Given the description of an element on the screen output the (x, y) to click on. 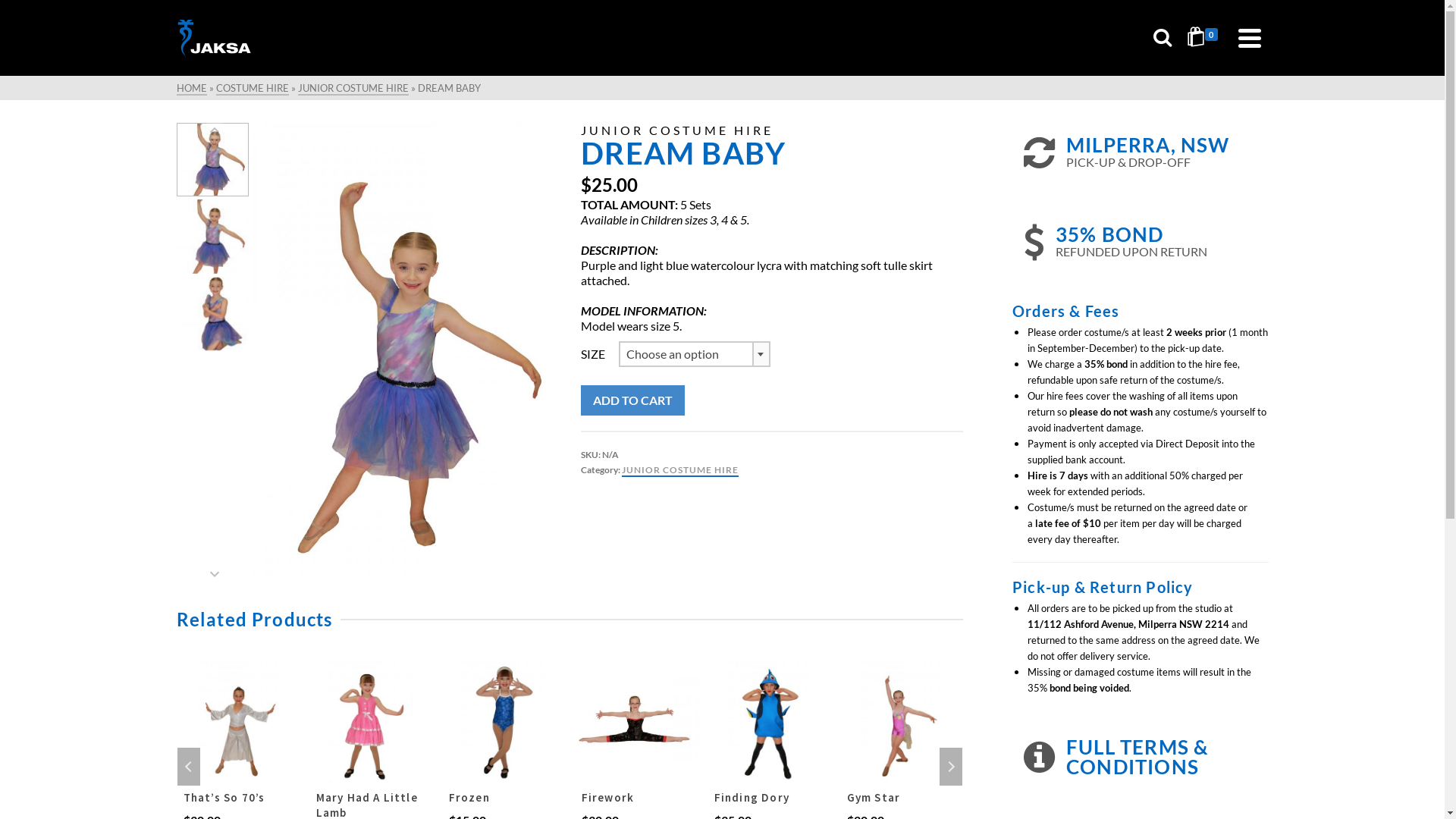
Next Element type: text (950, 766)
HOME Element type: text (190, 88)
JUNIOR COSTUME HIRE Element type: text (352, 88)
Firework Element type: text (769, 797)
Finding Dory Element type: text (901, 797)
ADD TO CART Element type: text (632, 400)
MILPERRA, NSW
PICK-UP & DROP-OFF Element type: text (1140, 152)
FULL TERMS & CONDITIONS Element type: text (1140, 756)
Previous Element type: text (188, 766)
JUNIOR COSTUME HIRE Element type: text (679, 470)
COSTUME HIRE Element type: text (251, 88)
0 Element type: text (1204, 37)
Dream Baby Element type: hover (405, 351)
35% BOND
REFUNDED UPON RETURN Element type: text (1140, 241)
Frozen Element type: text (635, 797)
